Given the description of an element on the screen output the (x, y) to click on. 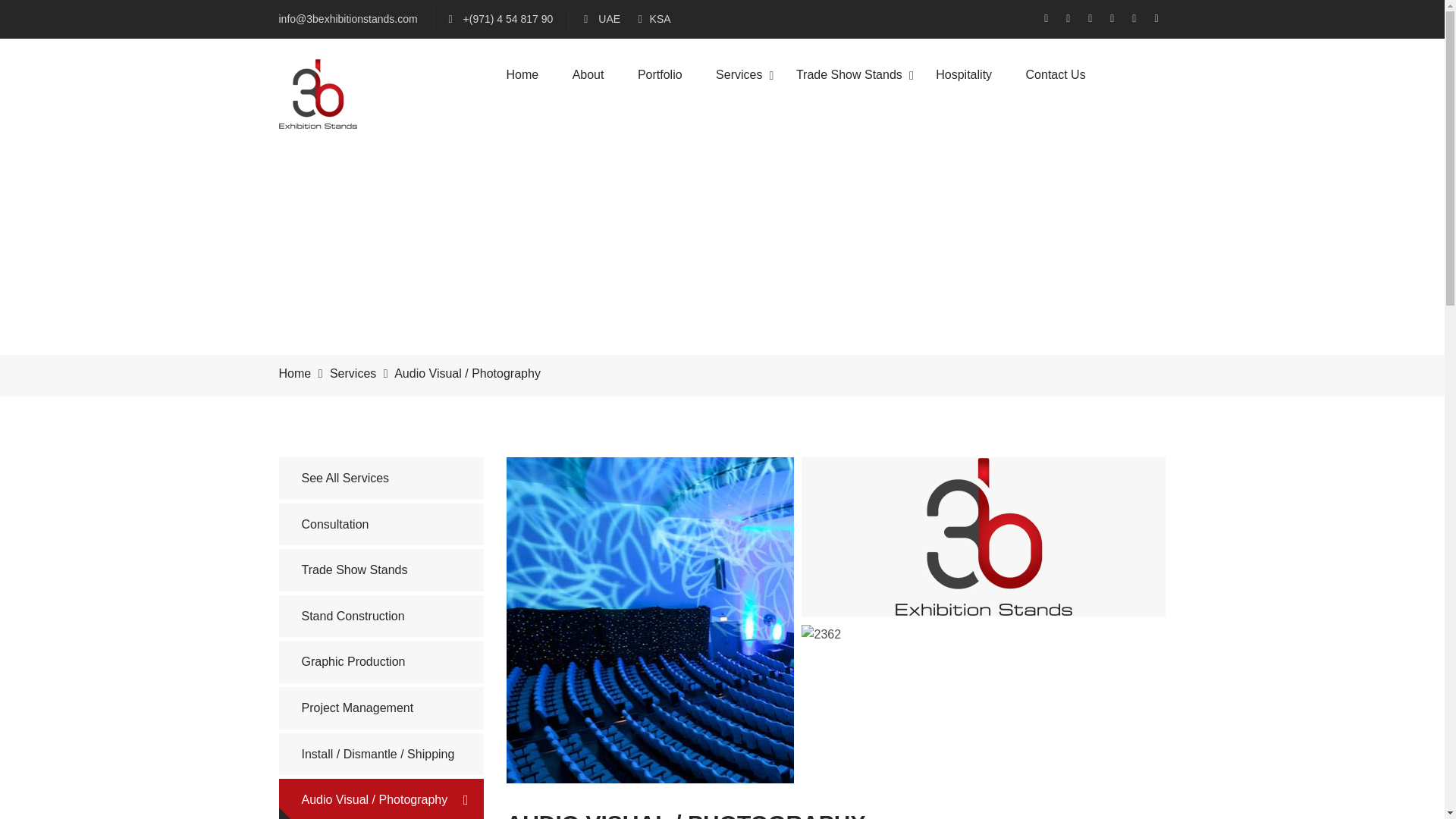
Home Element type: text (522, 74)
Rental Displays Element type: text (935, 225)
UAE Element type: text (610, 18)
Services Element type: text (352, 373)
Trade Show Stands Element type: text (864, 183)
Install / Dismantle / Shipping Element type: text (381, 754)
Install / Dismantle / Shipping Element type: text (885, 353)
Audio Visual / Photography Element type: text (381, 799)
Services Element type: text (738, 74)
Project Management Element type: text (381, 708)
Project Management Element type: text (867, 310)
Trade Show Stands Element type: text (849, 74)
KSA Element type: text (660, 18)
Audio Visual / Photography Element type: text (882, 395)
Hospitality Element type: text (963, 74)
Contact Us Element type: text (1055, 74)
info@3bexhibitionstands.com Element type: text (348, 18)
Stand Construction Element type: text (381, 616)
Home Element type: text (295, 373)
About Element type: text (588, 74)
Trade Show Stands Element type: text (381, 570)
Consultation Element type: text (847, 140)
Graphic Production Element type: text (381, 661)
Modular Displays Element type: text (938, 140)
Graphic Production Element type: text (863, 268)
On Site Supervision & Storage Element type: text (890, 438)
Portfolio Element type: text (659, 74)
Stand Construction Element type: text (863, 225)
See All Services Element type: text (381, 478)
Consultation Element type: text (381, 524)
Custom Displays Element type: text (938, 183)
Pavilion Element type: text (916, 268)
